Given the description of an element on the screen output the (x, y) to click on. 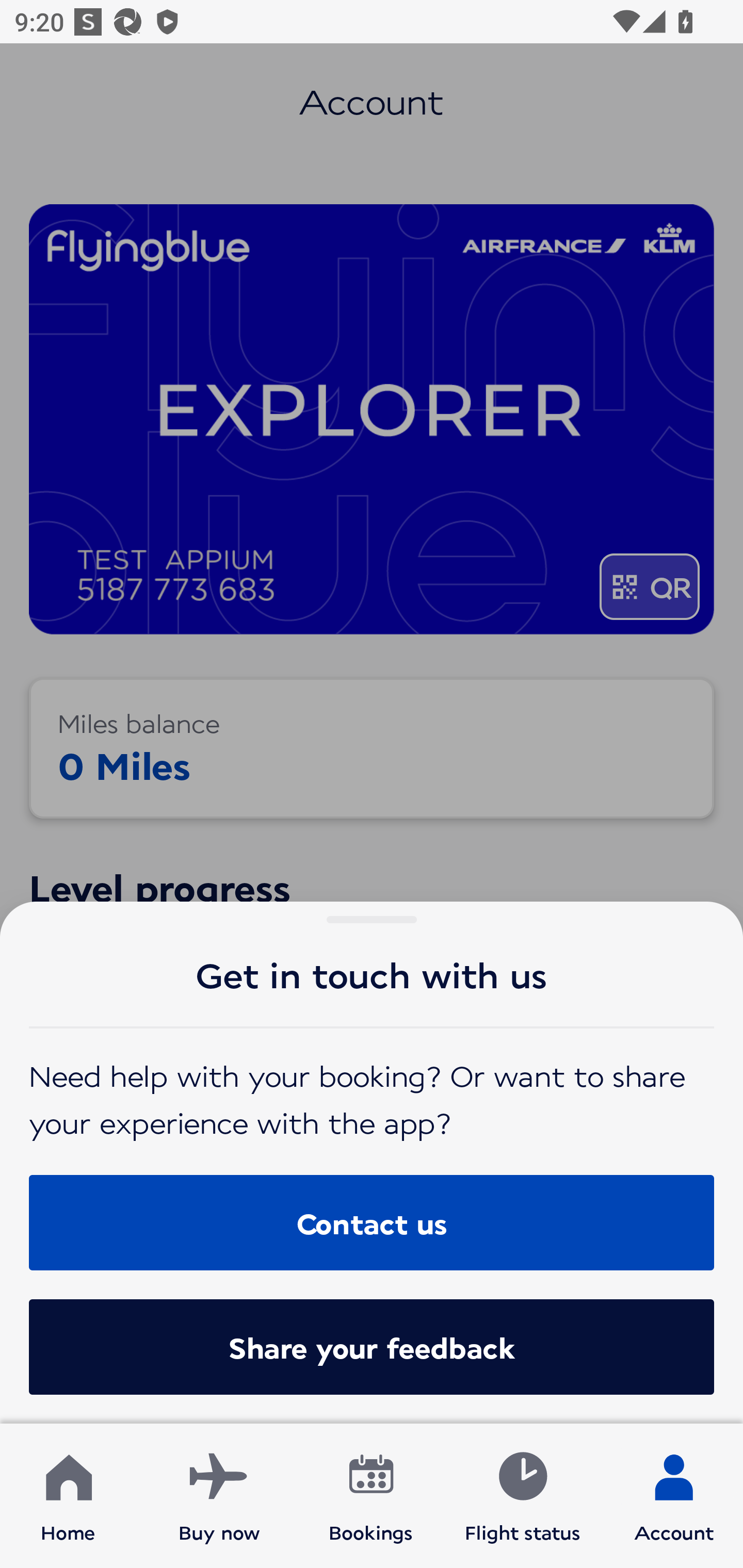
Contact us (371, 1222)
Share your feedback (371, 1346)
Home (68, 1495)
Buy now (219, 1495)
Bookings (370, 1495)
Flight status (522, 1495)
